Given the description of an element on the screen output the (x, y) to click on. 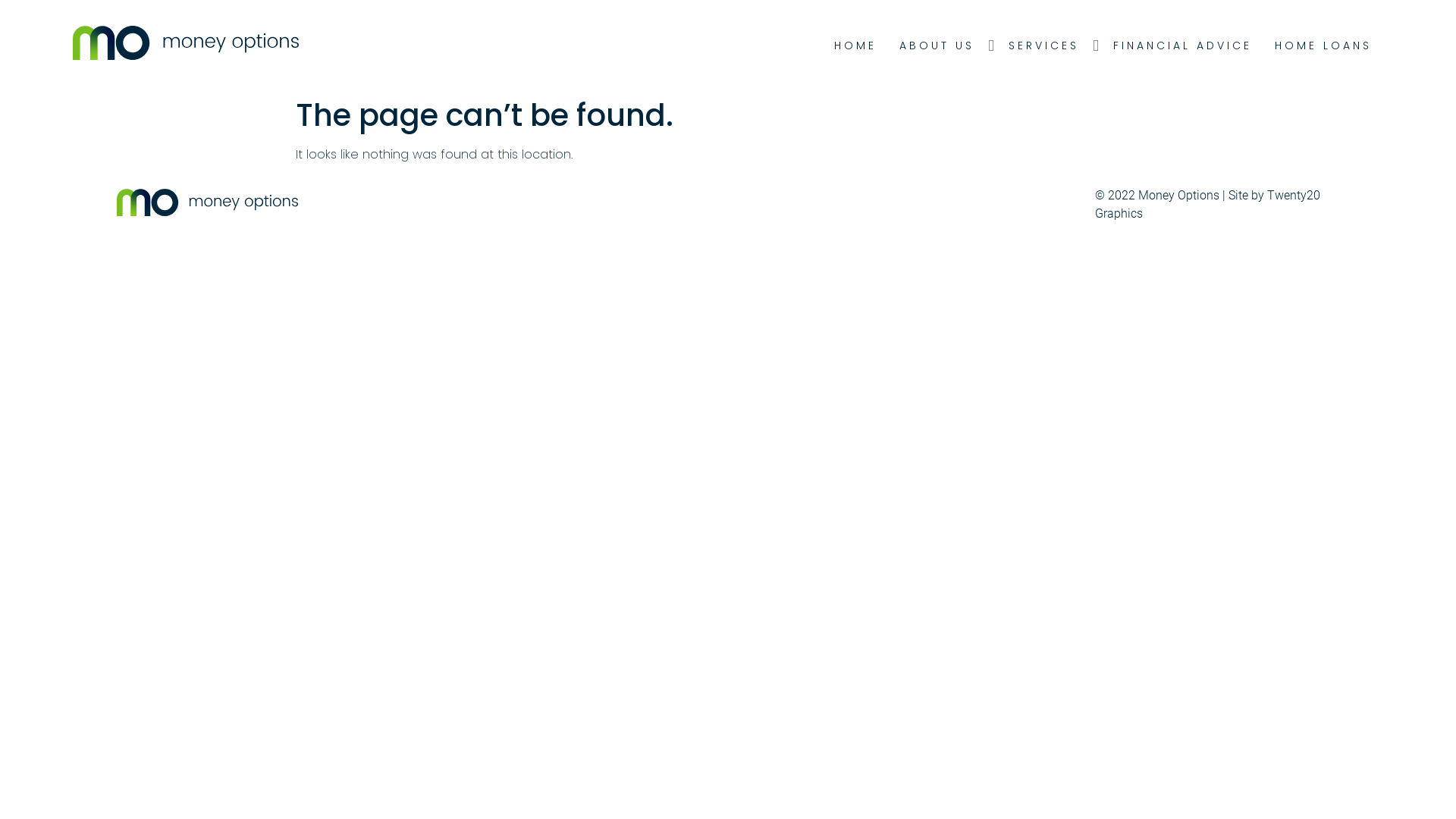
HOME LOANS Element type: text (1323, 45)
ABOUT US Element type: text (936, 45)
HOME Element type: text (855, 45)
FINANCIAL ADVICE Element type: text (1182, 45)
SERVICES Element type: text (1043, 45)
